Given the description of an element on the screen output the (x, y) to click on. 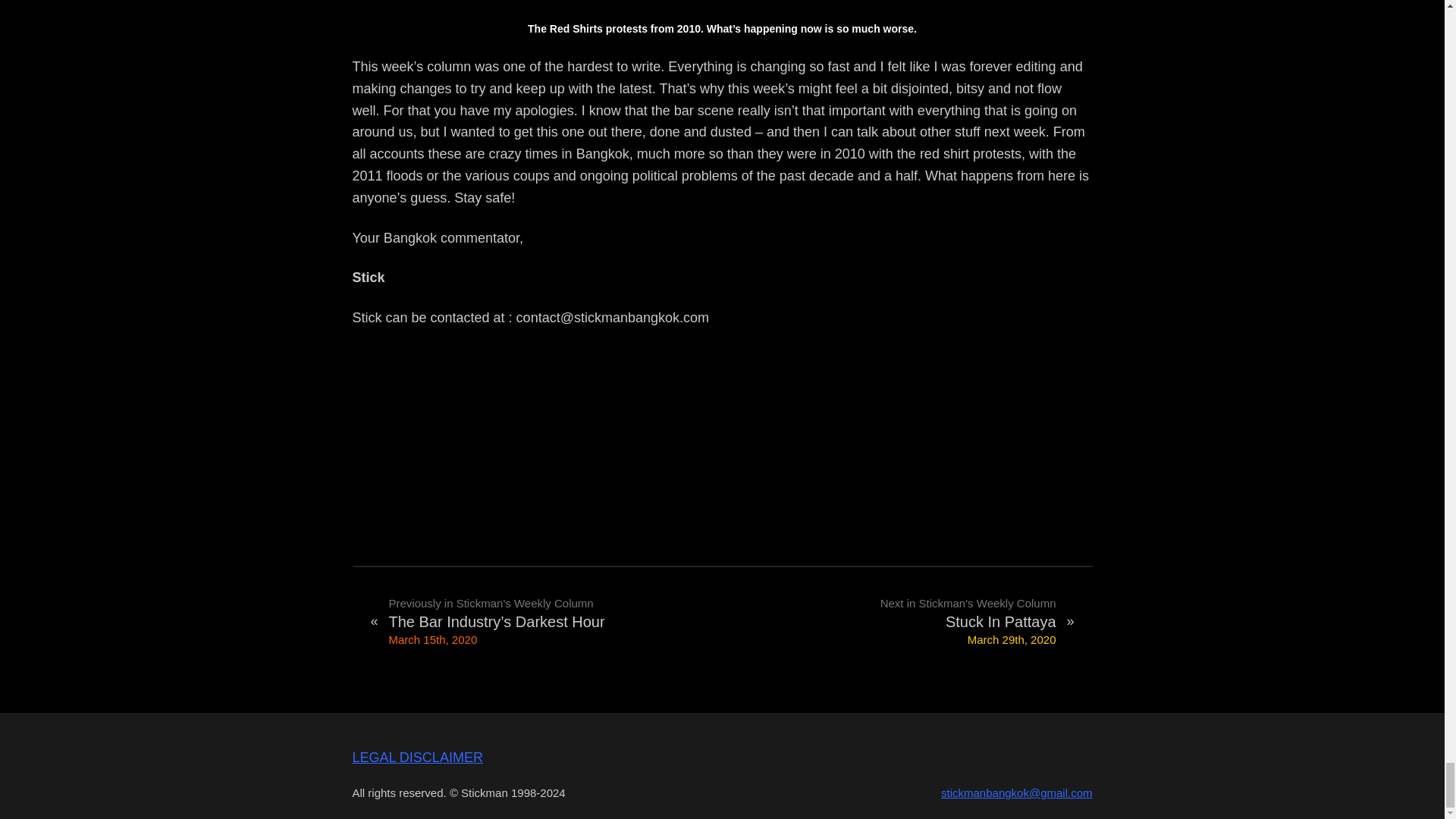
LEGAL DISCLAIMER (416, 757)
